Given the description of an element on the screen output the (x, y) to click on. 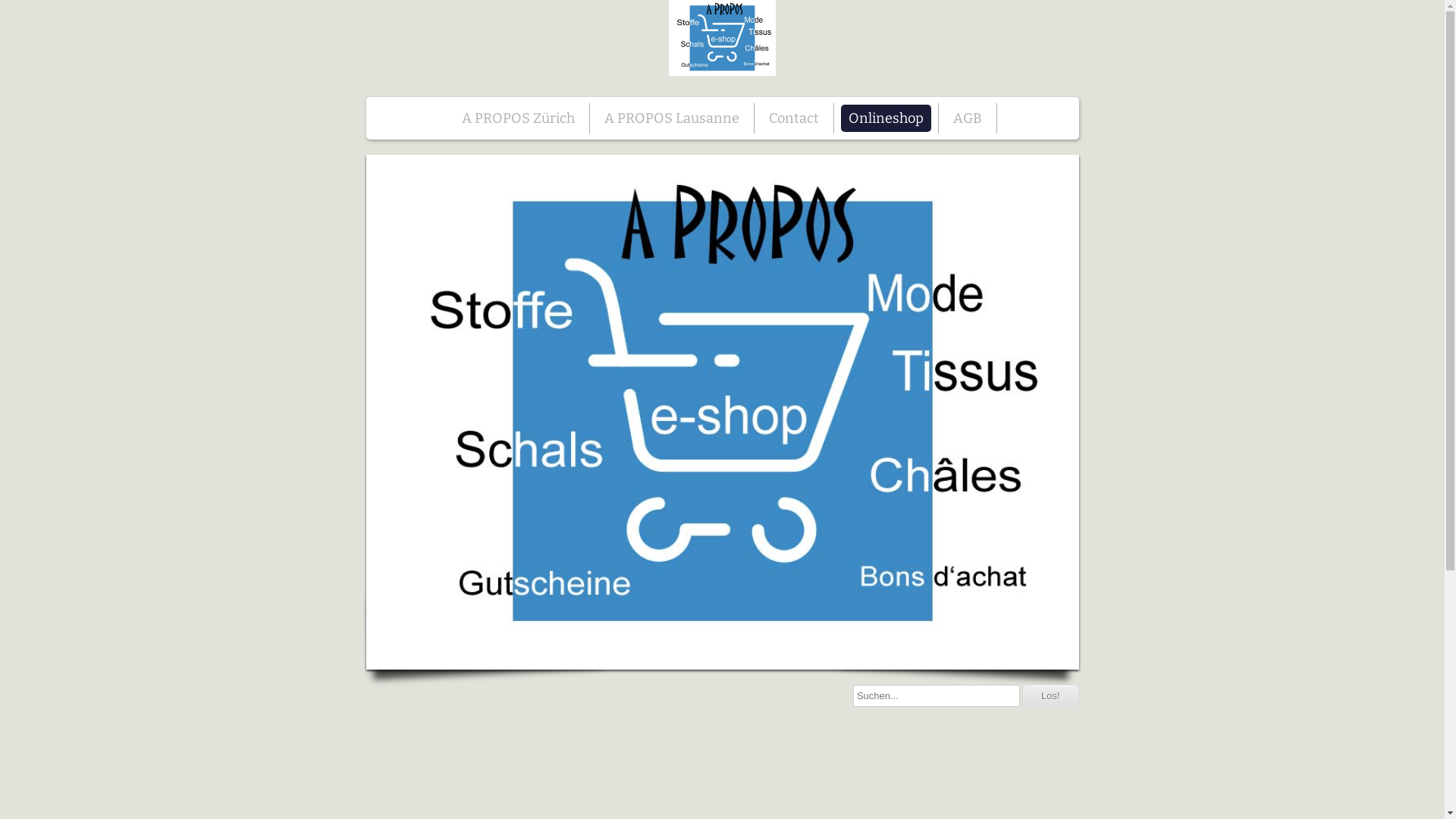
Onlineshop Element type: text (885, 117)
A PROPOS Lausanne Element type: text (671, 117)
AGB Element type: text (967, 117)
Los! Element type: text (1050, 695)
Contact Element type: text (793, 117)
